Given the description of an element on the screen output the (x, y) to click on. 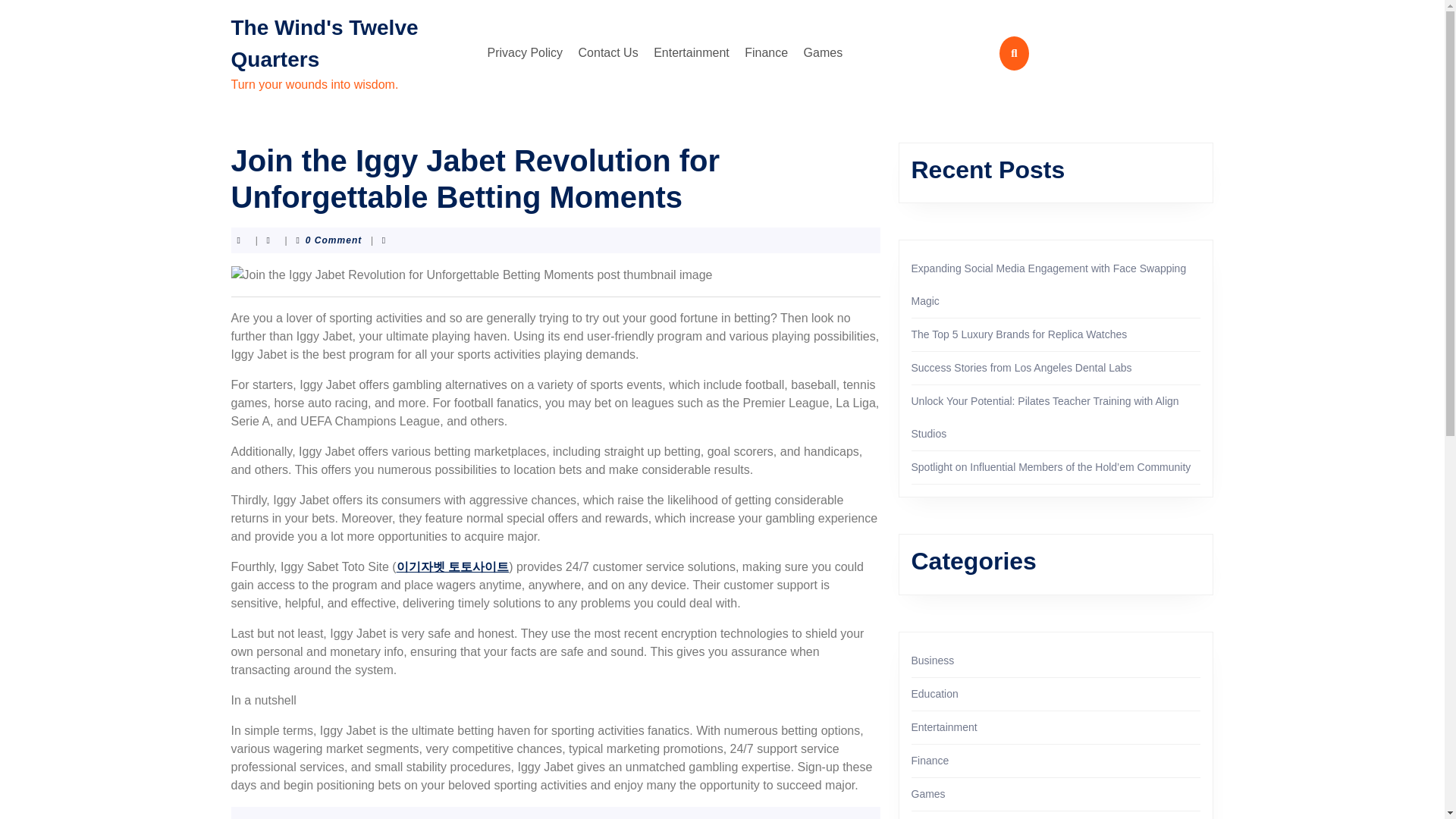
Games (822, 52)
Expanding Social Media Engagement with Face Swapping Magic (1048, 284)
Games (927, 793)
Success Stories from Los Angeles Dental Labs (1021, 367)
Finance (765, 52)
The Wind's Twelve Quarters (323, 43)
Entertainment (691, 52)
Entertainment (943, 727)
Business (933, 660)
